Given the description of an element on the screen output the (x, y) to click on. 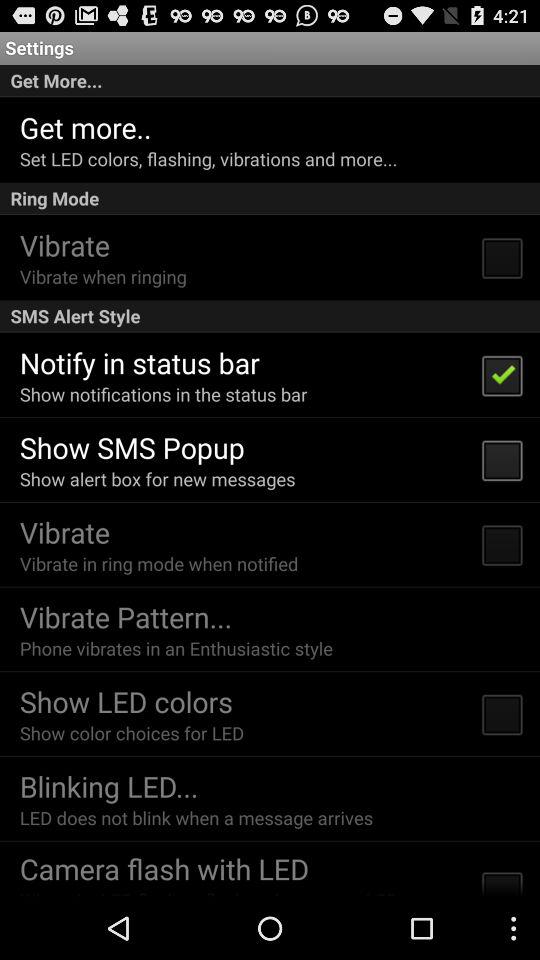
open the icon below the led does not app (164, 868)
